Given the description of an element on the screen output the (x, y) to click on. 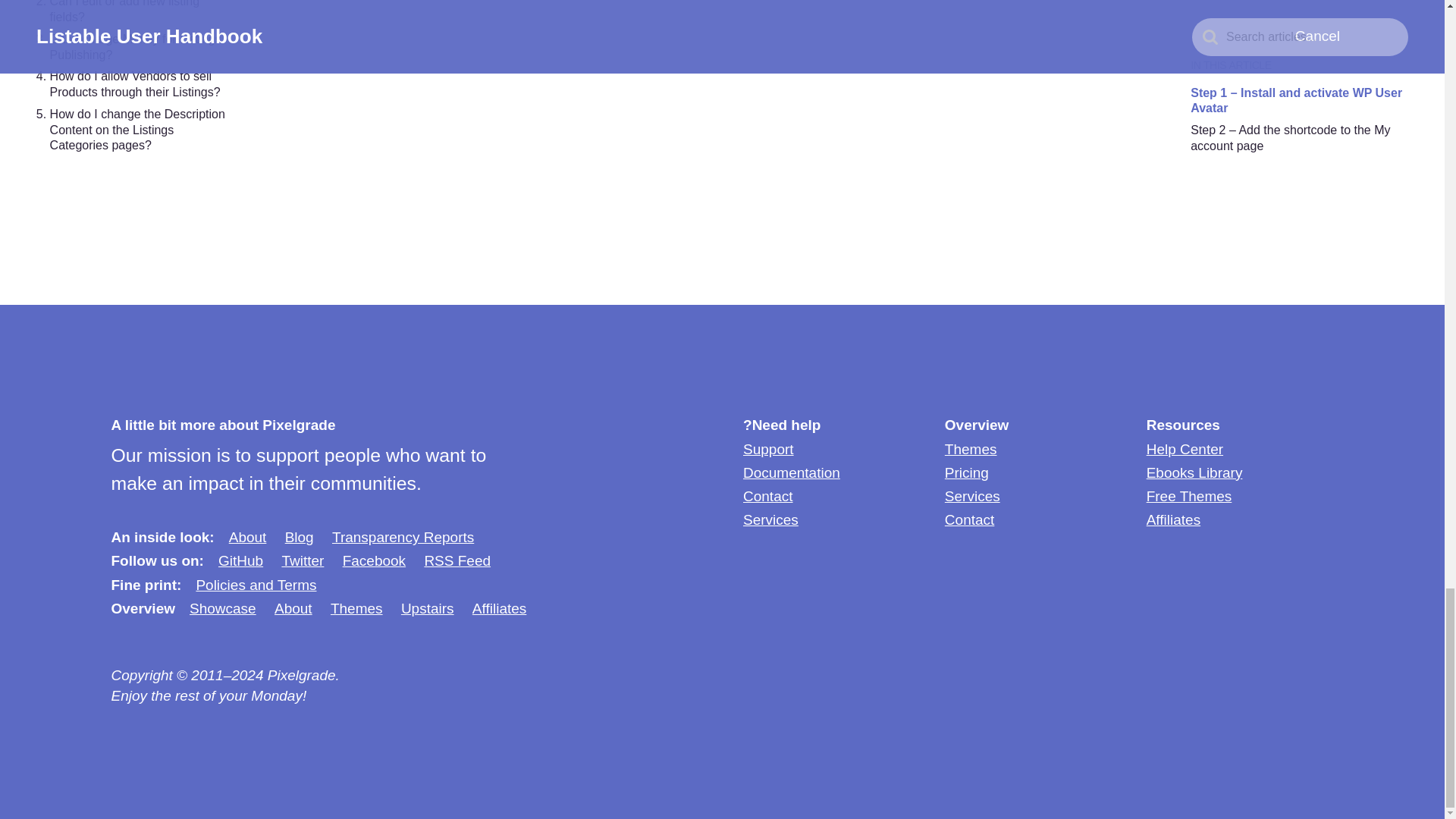
Can I charge Money for Listings Publishing? (135, 46)
Can I edit or add new listing fields? (124, 11)
